Given the description of an element on the screen output the (x, y) to click on. 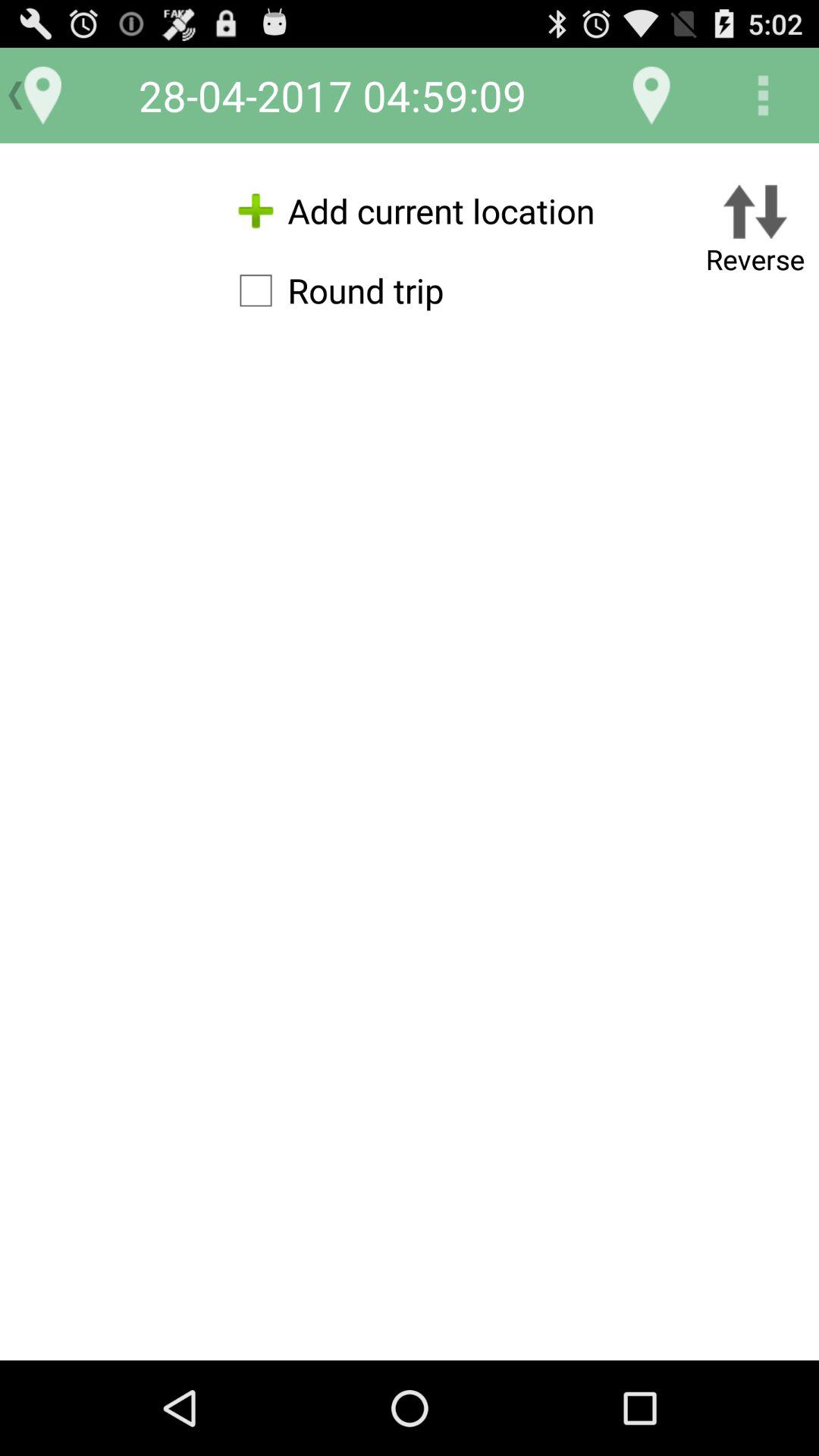
open checkbox above the round trip icon (409, 210)
